Given the description of an element on the screen output the (x, y) to click on. 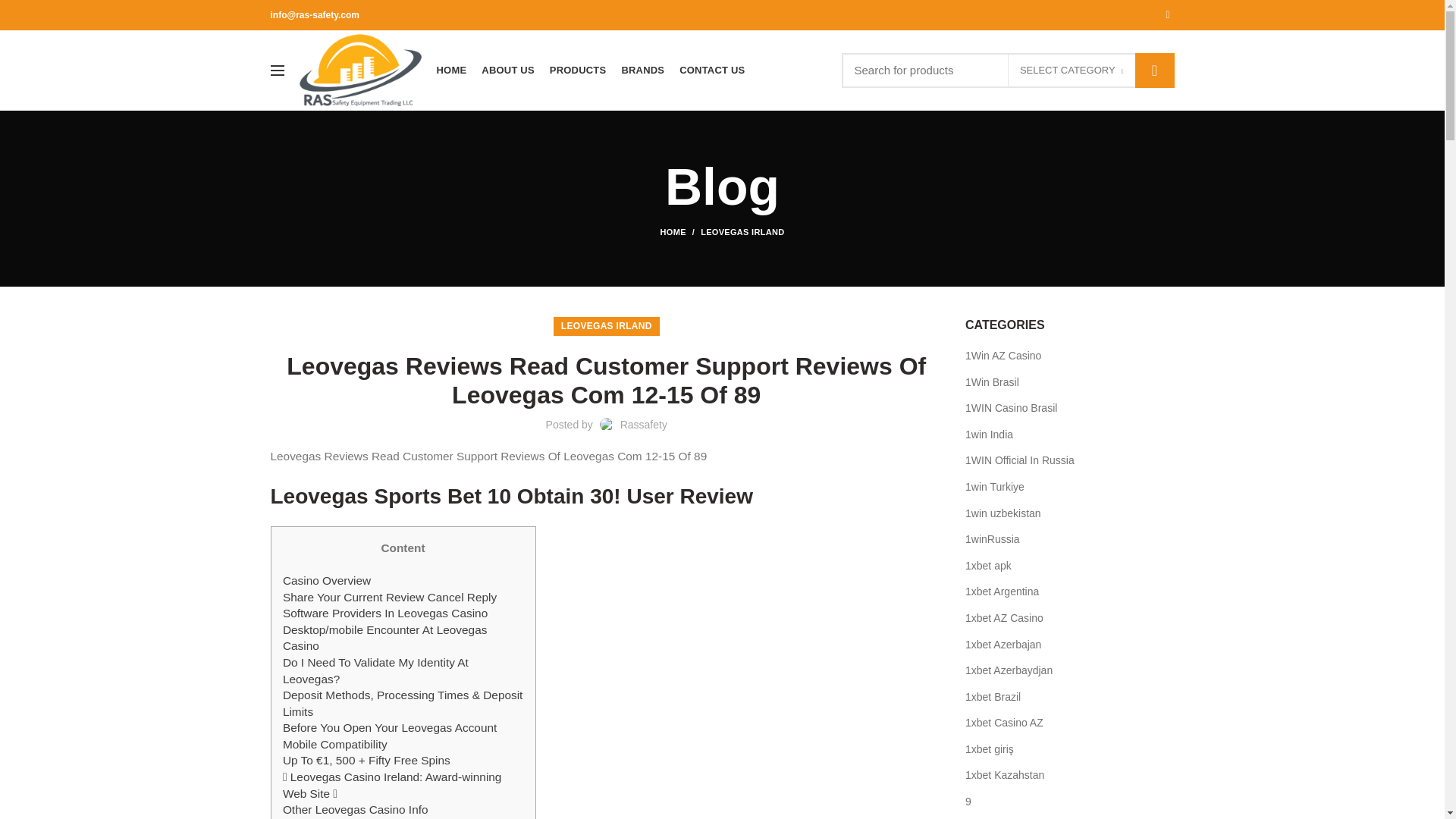
Software Providers In Leovegas Casino (384, 612)
HOME (451, 69)
LEOVEGAS IRLAND (742, 231)
Do I Need To Validate My Identity At Leovegas? (375, 670)
Rassafety (643, 424)
Casino Overview (326, 580)
SEARCH (1153, 70)
Mobile Compatibility (334, 744)
Share Your Current Review Cancel Reply (389, 596)
SELECT CATEGORY (1072, 70)
ABOUT US (507, 69)
PRODUCTS (577, 69)
BRANDS (641, 69)
CONTACT US (711, 69)
SELECT CATEGORY (1071, 70)
